Given the description of an element on the screen output the (x, y) to click on. 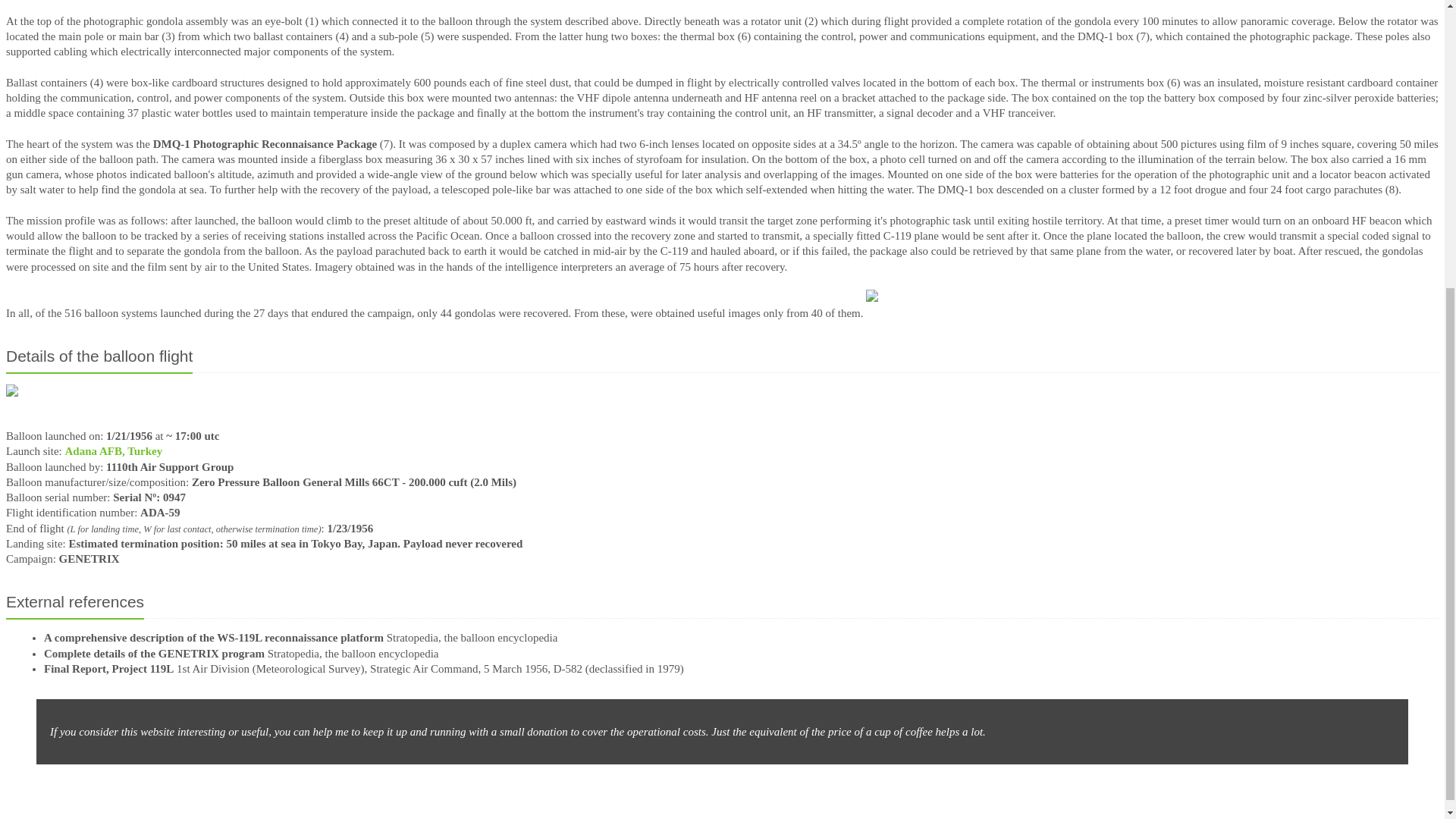
Adana AFB, Turkey (112, 451)
Complete details of the GENETRIX program (153, 653)
Final Report, Project 119L (108, 668)
